Given the description of an element on the screen output the (x, y) to click on. 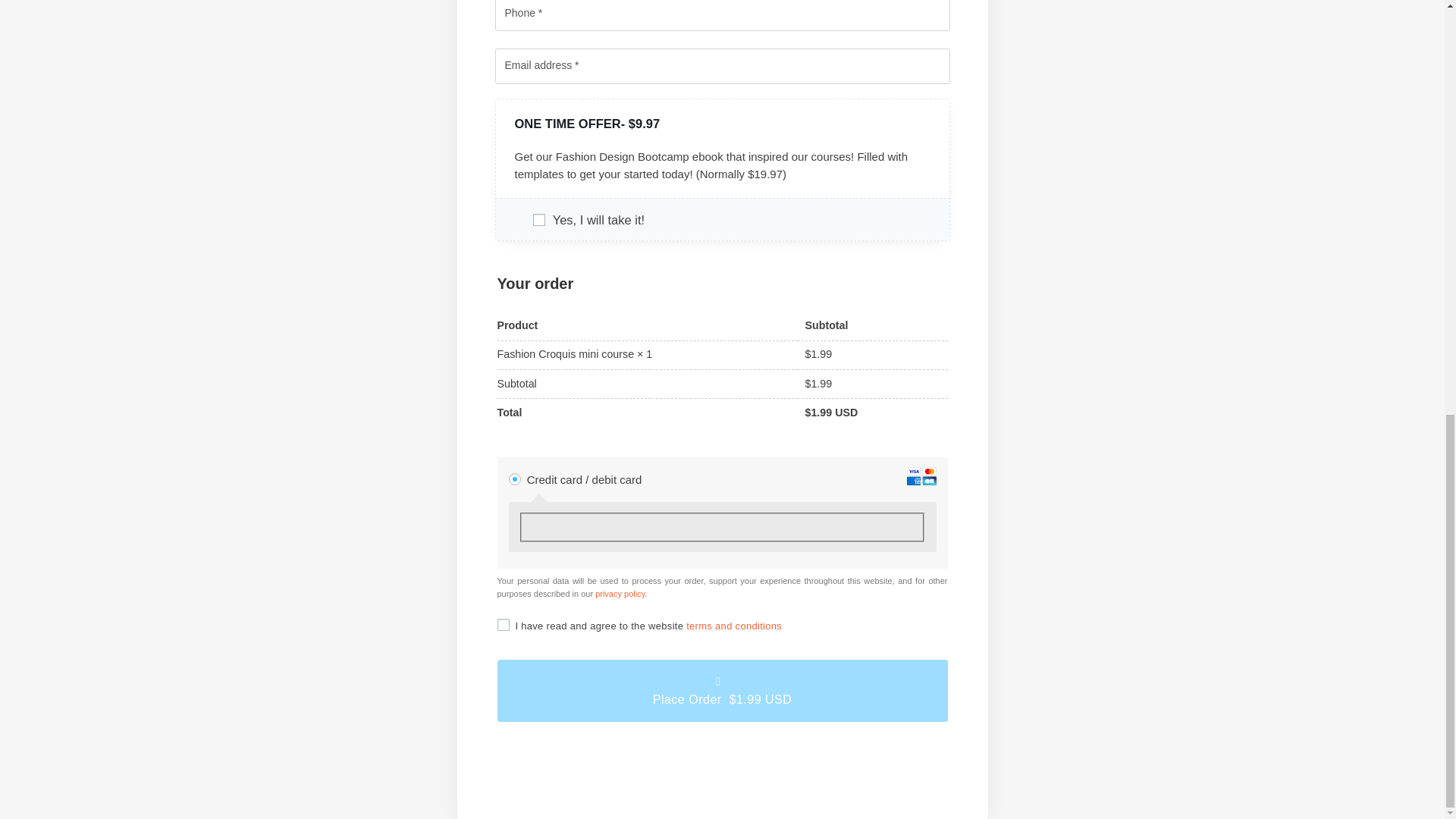
b7f (538, 219)
on (503, 624)
terms and conditions (733, 625)
privacy policy (620, 593)
